Given the description of an element on the screen output the (x, y) to click on. 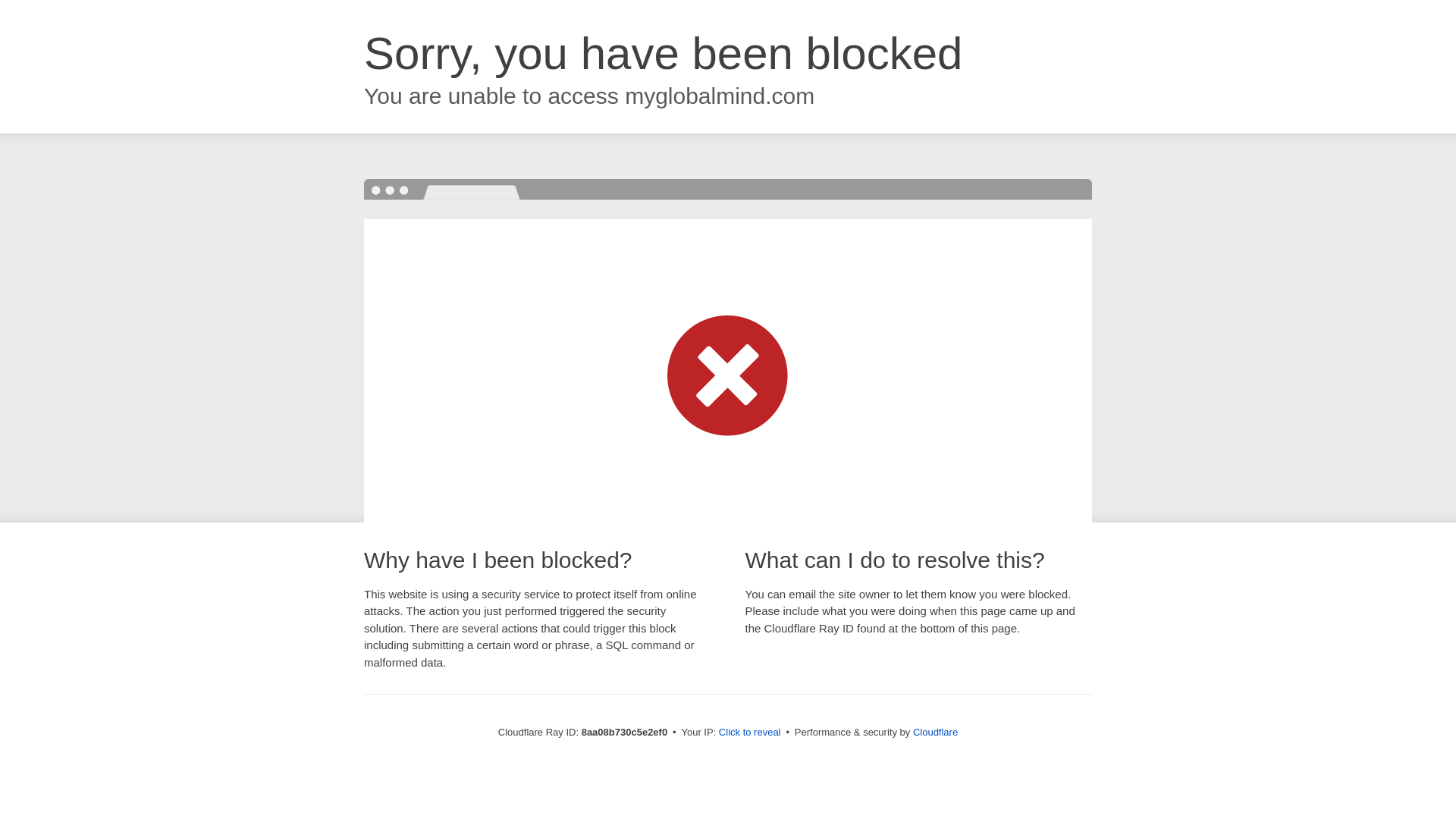
Click to reveal (749, 732)
Cloudflare (935, 731)
